Given the description of an element on the screen output the (x, y) to click on. 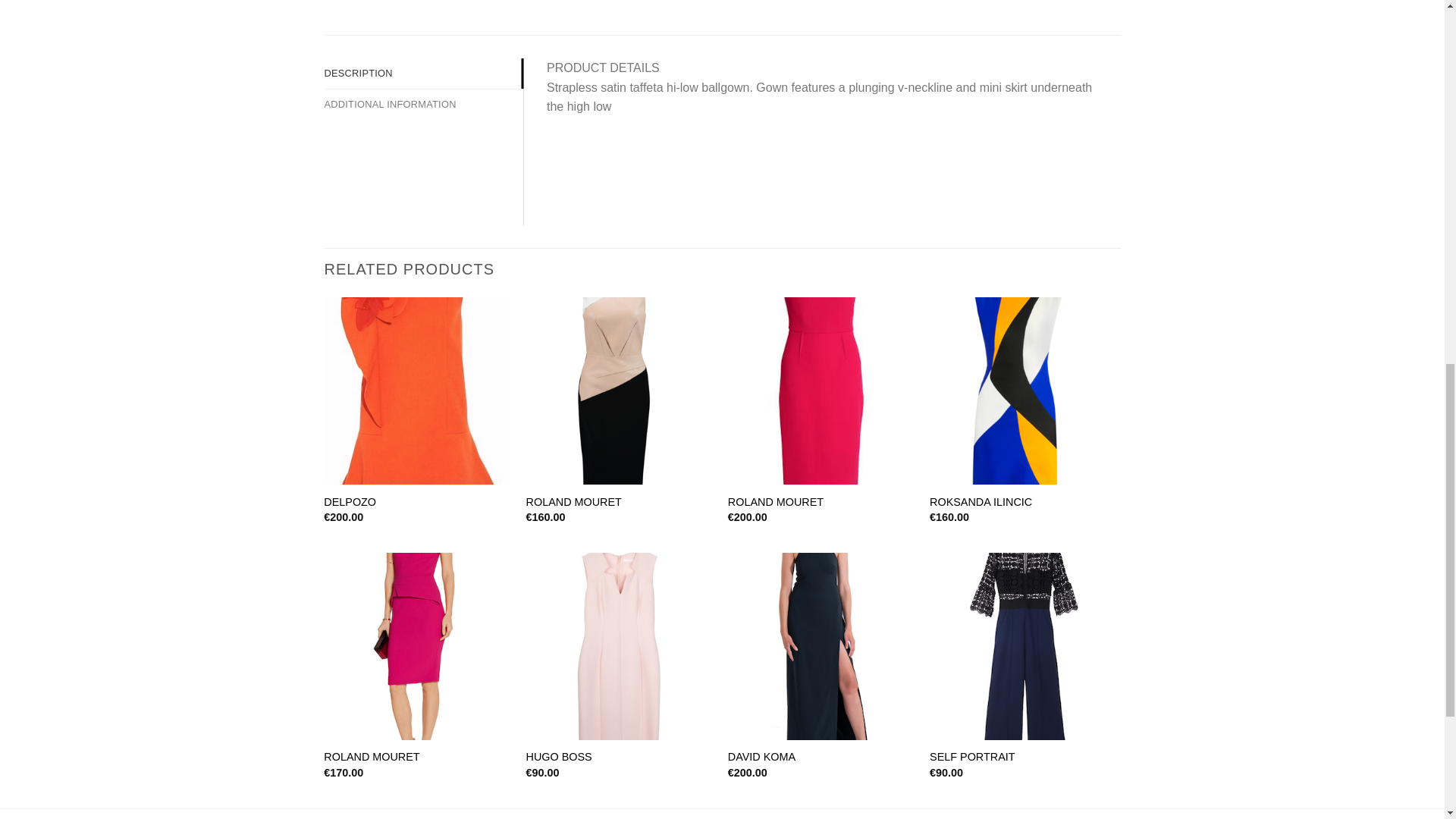
DELPOZO (349, 502)
ADDITIONAL INFORMATION (424, 104)
DESCRIPTION (424, 73)
